Given the description of an element on the screen output the (x, y) to click on. 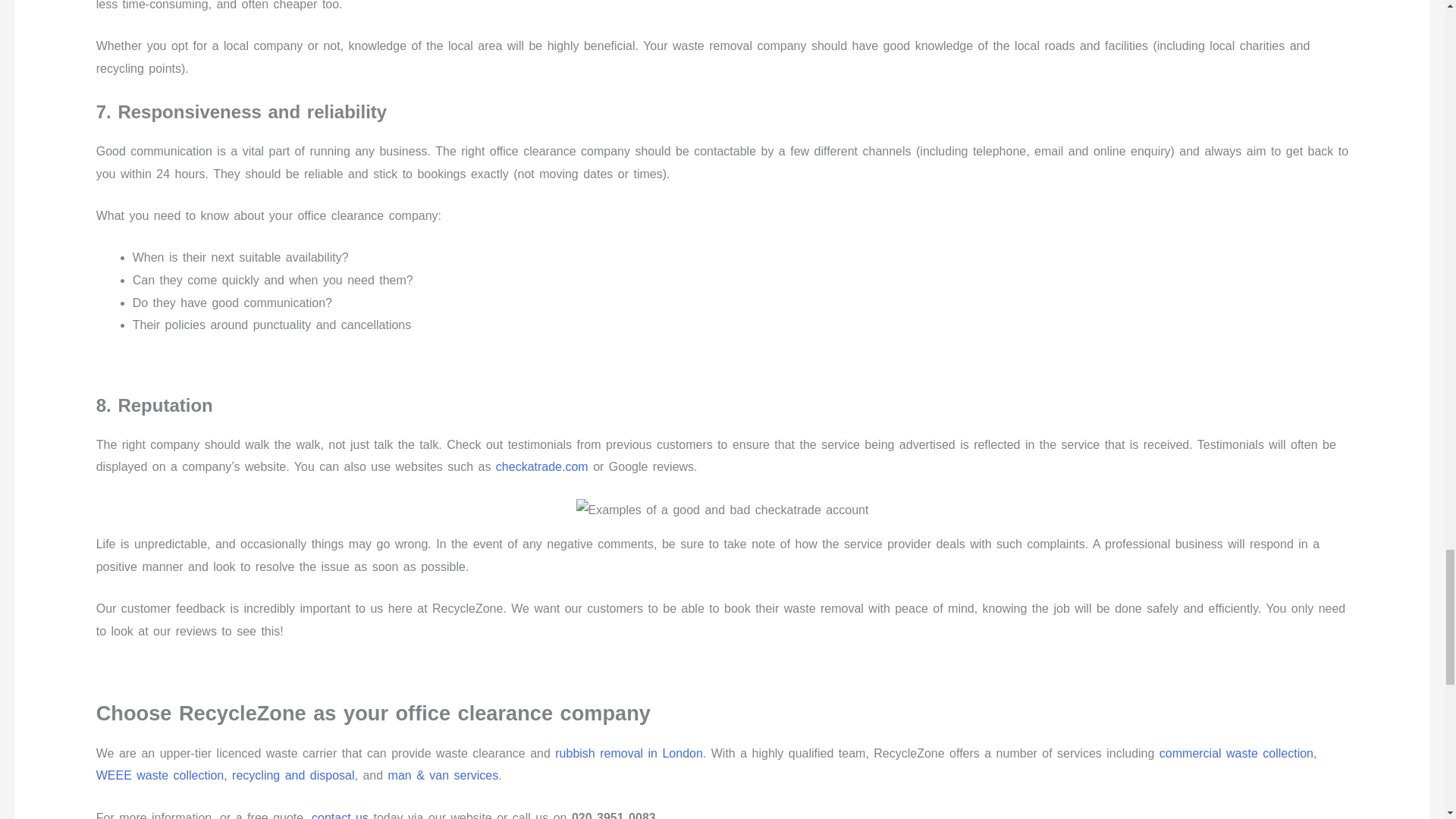
rubbish removal in London (628, 753)
checkatrade.com (542, 466)
WEEE waste collection, recycling and disposal (225, 775)
contact us (339, 815)
commercial waste collection (1235, 753)
